Given the description of an element on the screen output the (x, y) to click on. 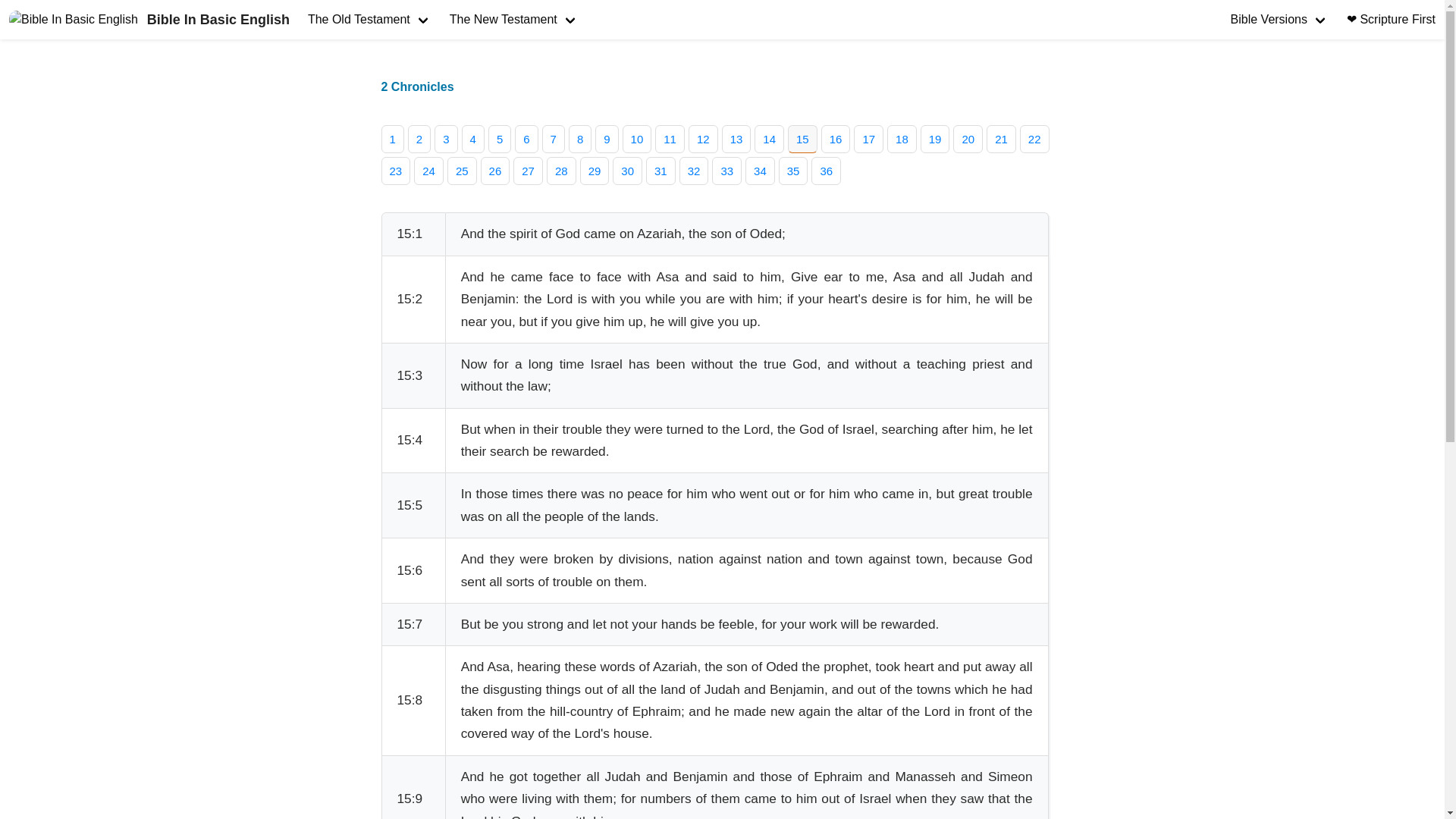
Bible In Basic English (149, 19)
